Given the description of an element on the screen output the (x, y) to click on. 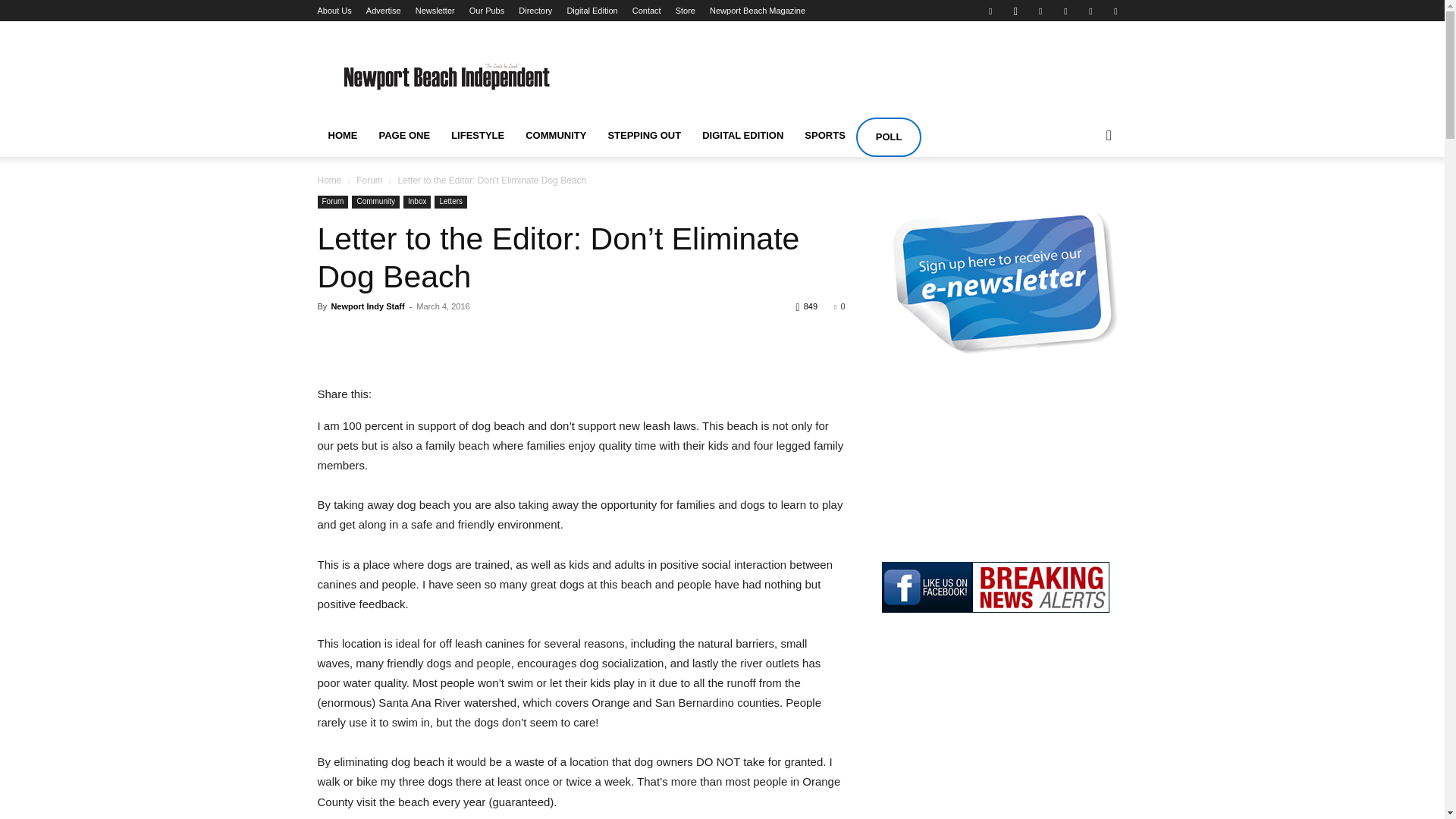
Mail (1065, 10)
RSS (1090, 10)
Facebook (989, 10)
Instagram (1015, 10)
Twitter (1114, 10)
View all posts in Forum (369, 180)
Linkedin (1040, 10)
